Given the description of an element on the screen output the (x, y) to click on. 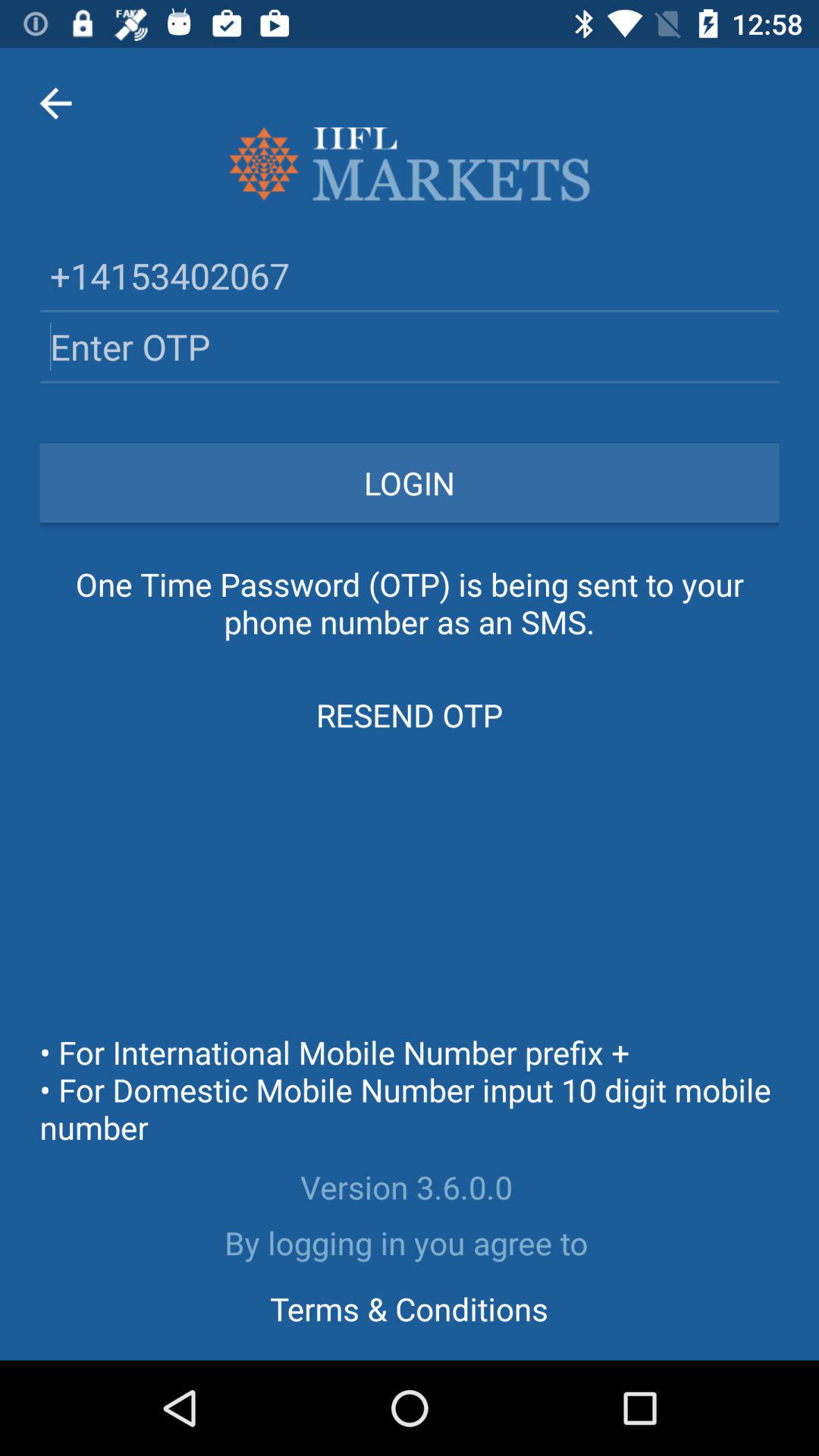
enter opt field (409, 346)
